Given the description of an element on the screen output the (x, y) to click on. 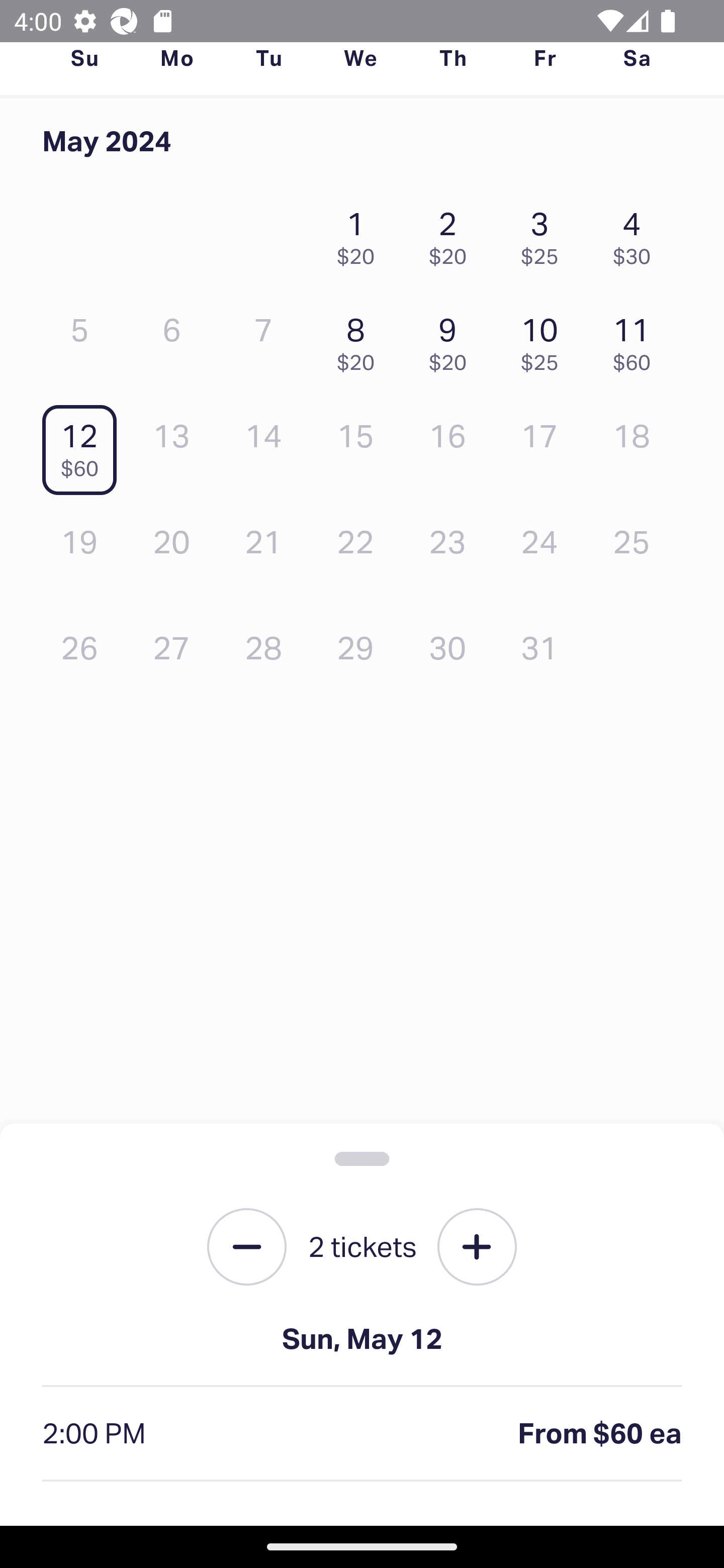
1 $20 (360, 232)
2 $20 (452, 232)
3 $25 (544, 232)
4 $30 (636, 232)
8 $20 (360, 339)
9 $20 (452, 339)
10 $25 (544, 339)
11 $60 (636, 339)
12 $60 (84, 445)
2:00 PM From $60 ea (361, 1434)
